Given the description of an element on the screen output the (x, y) to click on. 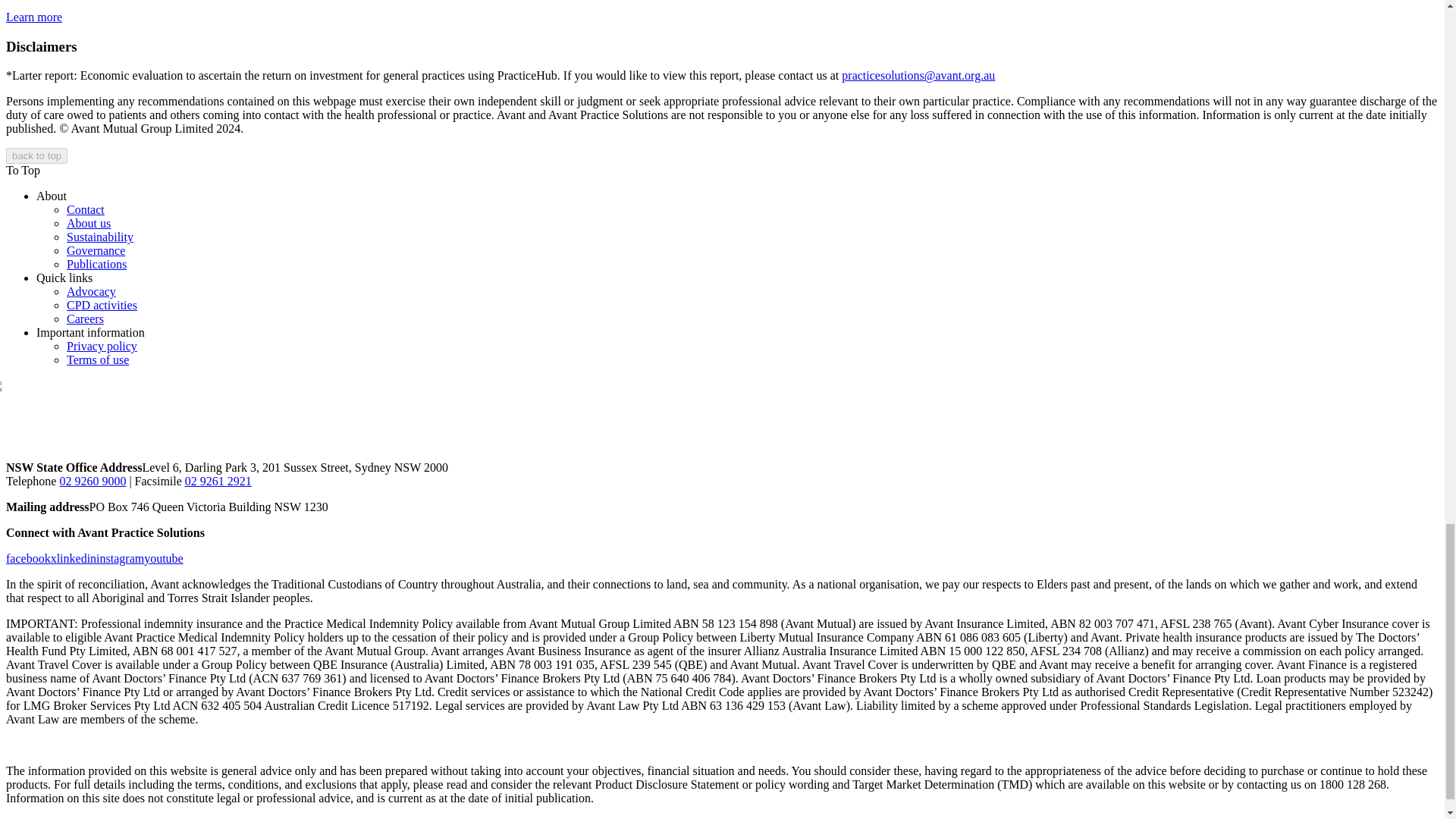
02 9260 9000 (92, 481)
02 9261 2921 (217, 481)
